Given the description of an element on the screen output the (x, y) to click on. 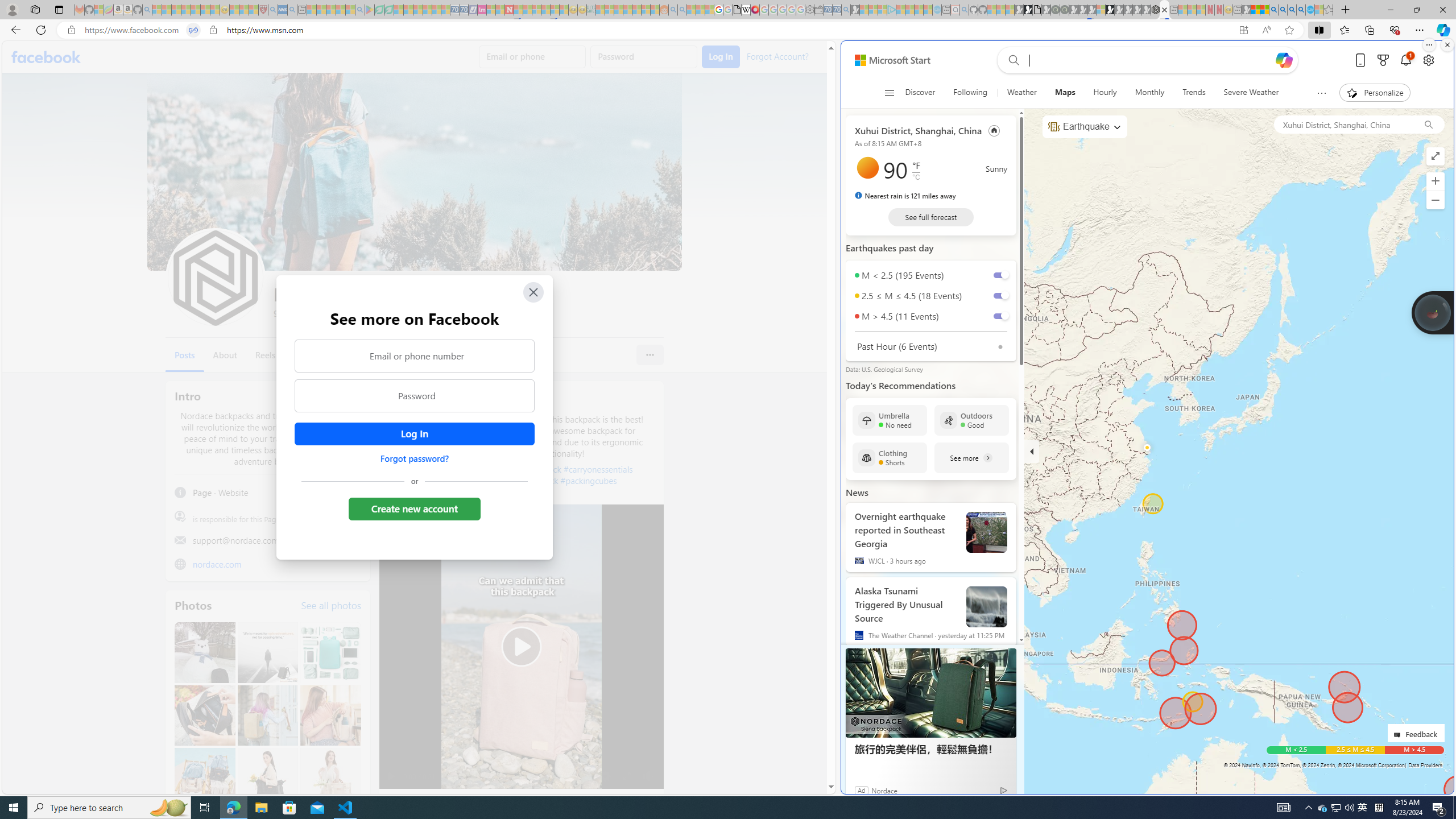
Create new account (413, 508)
Join us in planting real trees to help our planet! (1431, 311)
Data Providers (1424, 765)
Terms of Use Agreement - Sleeping (378, 9)
2009 Bing officially replaced Live Search on June 3 - Search (1283, 9)
Microsoft-Report a Concern to Bing - Sleeping (98, 9)
WJCL (858, 560)
More options. (1428, 45)
View site information (213, 29)
Latest Politics News & Archive | Newsweek.com - Sleeping (508, 9)
Discover (920, 92)
